Given the description of an element on the screen output the (x, y) to click on. 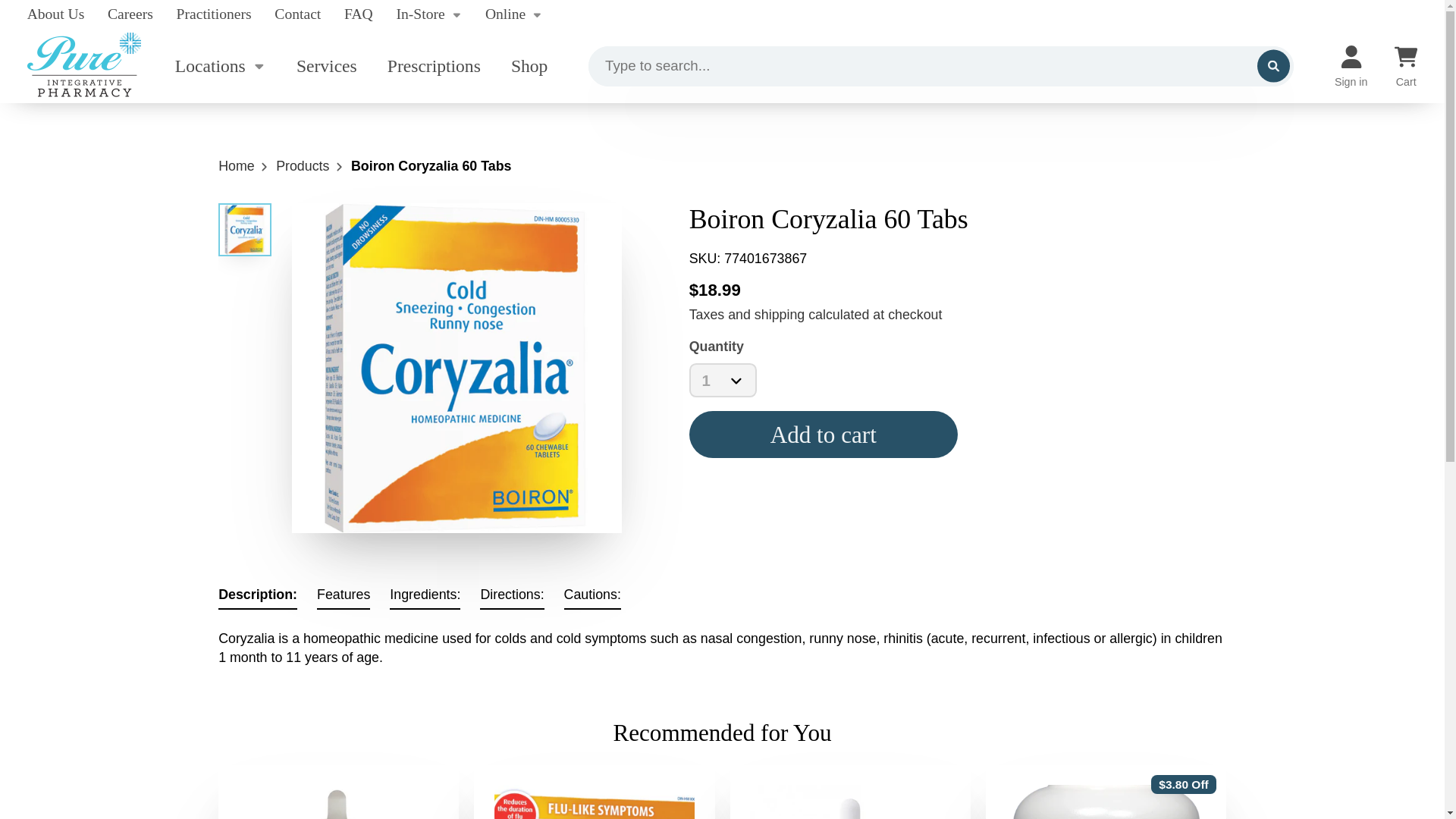
FAQ (357, 14)
Locations (215, 65)
Practitioners (213, 14)
About Us (55, 14)
In-Store (428, 14)
Contact (297, 14)
Logo (84, 65)
Careers (129, 14)
Online (513, 14)
